Given the description of an element on the screen output the (x, y) to click on. 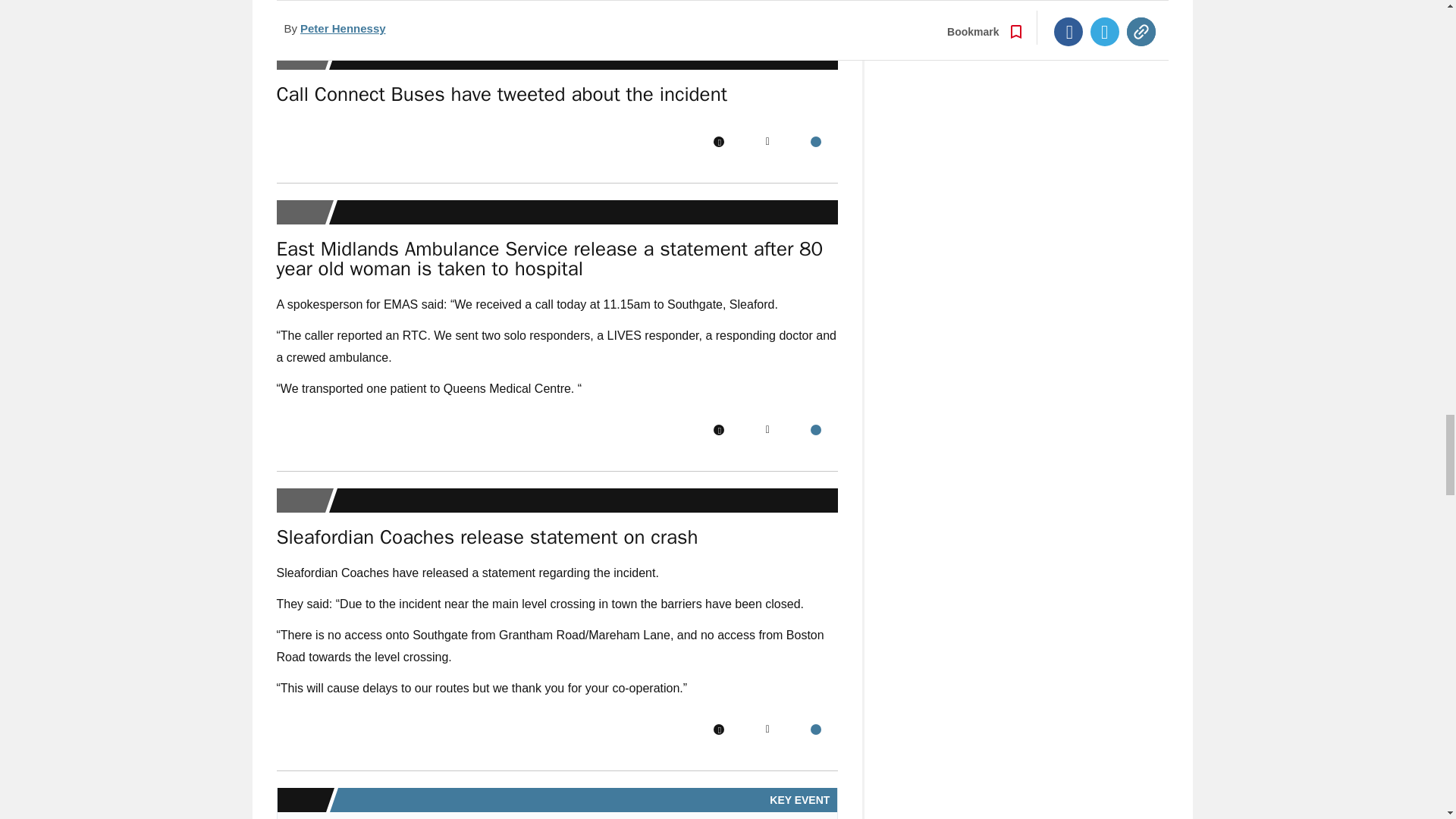
Twitter (767, 429)
Twitter (767, 141)
Facebook (718, 141)
Facebook (718, 429)
